Given the description of an element on the screen output the (x, y) to click on. 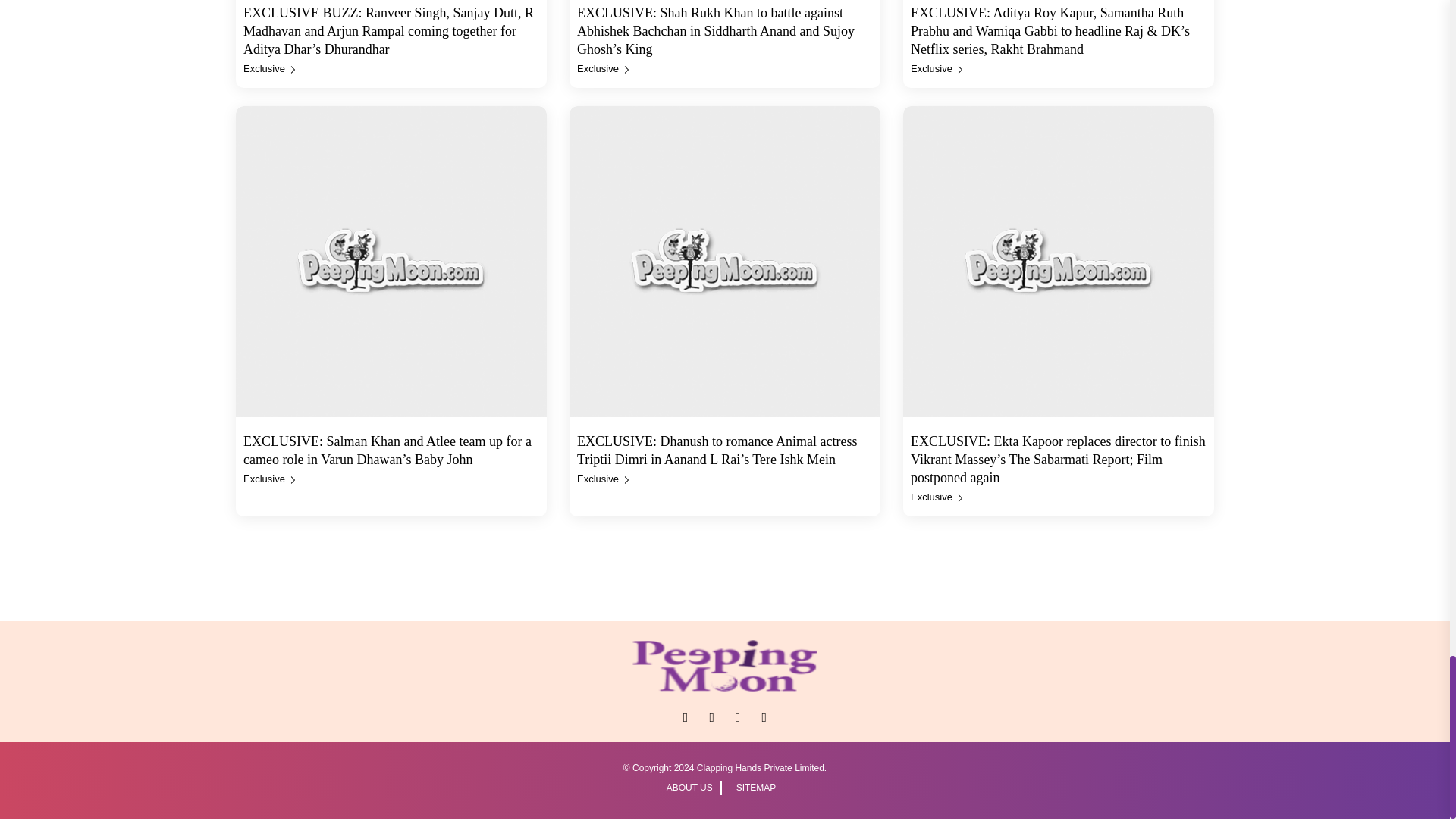
Peepingmoon English (724, 665)
